Given the description of an element on the screen output the (x, y) to click on. 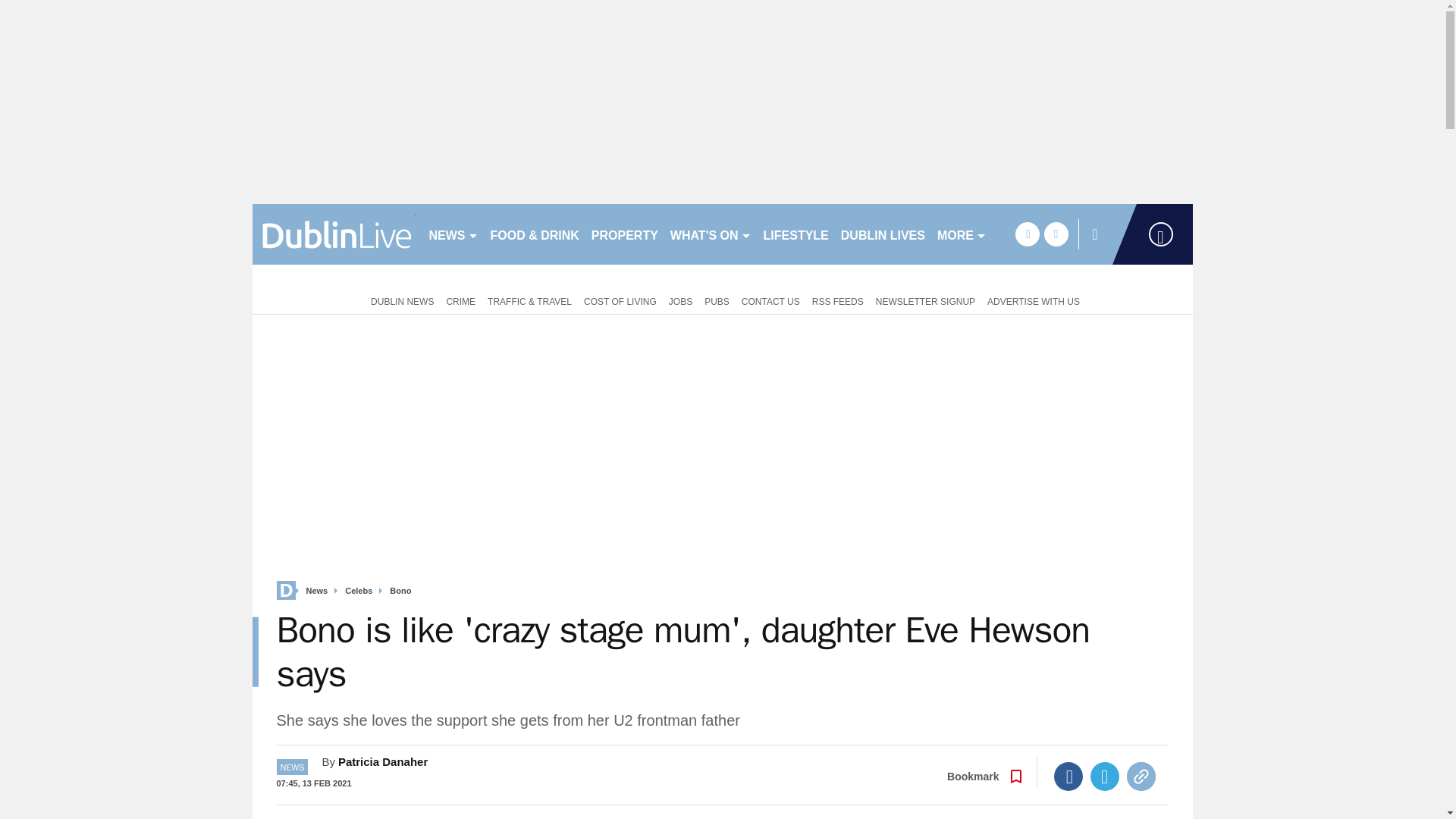
DUBLIN LIVES (882, 233)
facebook (1026, 233)
Twitter (1104, 776)
PROPERTY (624, 233)
LIFESTYLE (795, 233)
WHAT'S ON (710, 233)
MORE (961, 233)
Facebook (1068, 776)
dublinlive (332, 233)
NEWS (453, 233)
